Given the description of an element on the screen output the (x, y) to click on. 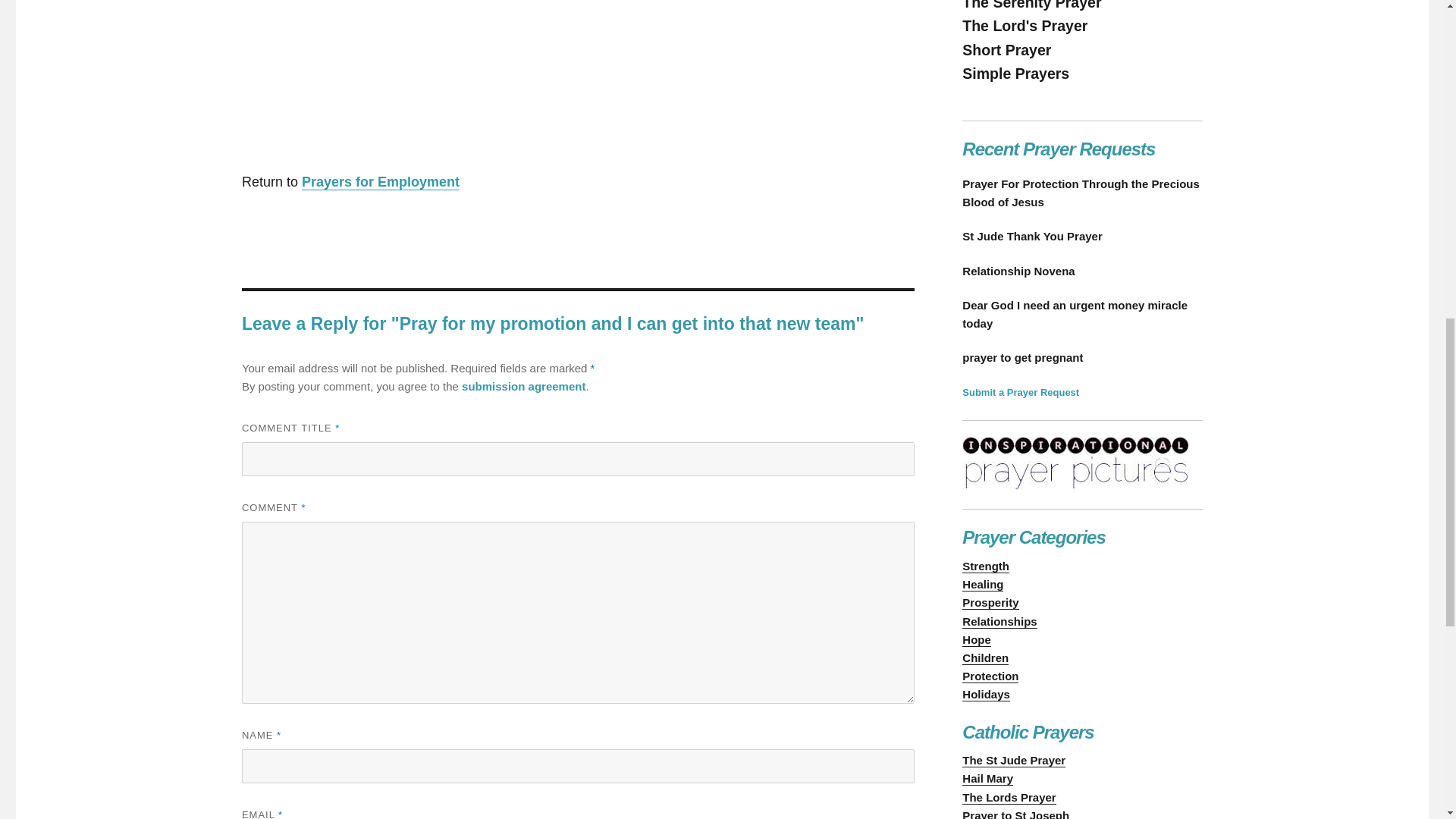
Children (985, 657)
The Lord's Prayer (1024, 25)
Prayer to St Joseph (1015, 814)
St Jude Thank You Prayer (1082, 236)
The Serenity Prayer (1031, 5)
Hail Mary (987, 778)
Prayers for Employment (380, 181)
Protection (989, 675)
Simple Prayers (1015, 73)
The Lords Prayer (1008, 797)
